Given the description of an element on the screen output the (x, y) to click on. 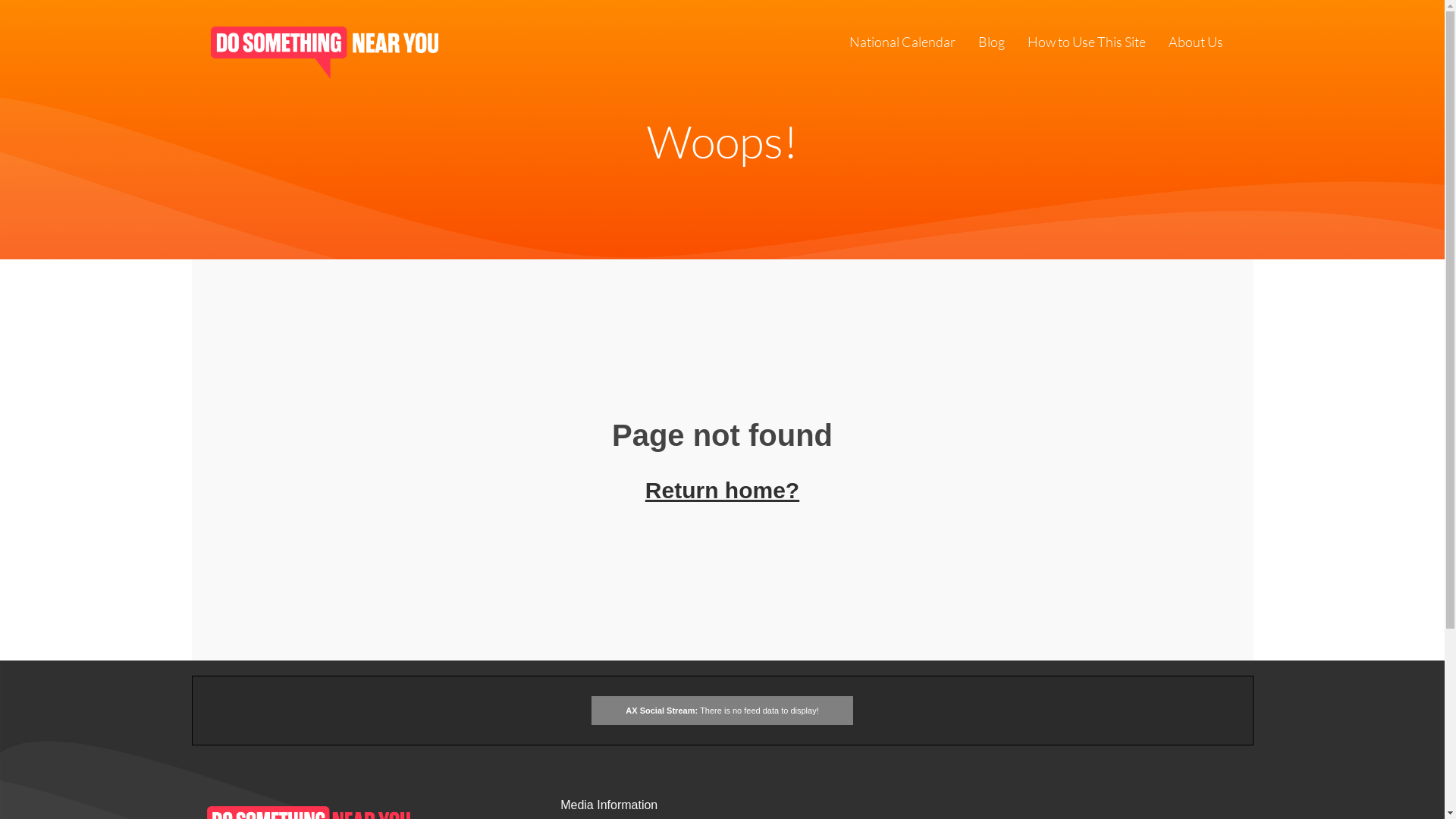
National Calendar Element type: text (902, 43)
About Us Element type: text (1194, 43)
Media Information Element type: text (608, 804)
How to Use This Site Element type: text (1085, 43)
Blog Element type: text (991, 43)
Return home? Element type: text (722, 489)
